Given the description of an element on the screen output the (x, y) to click on. 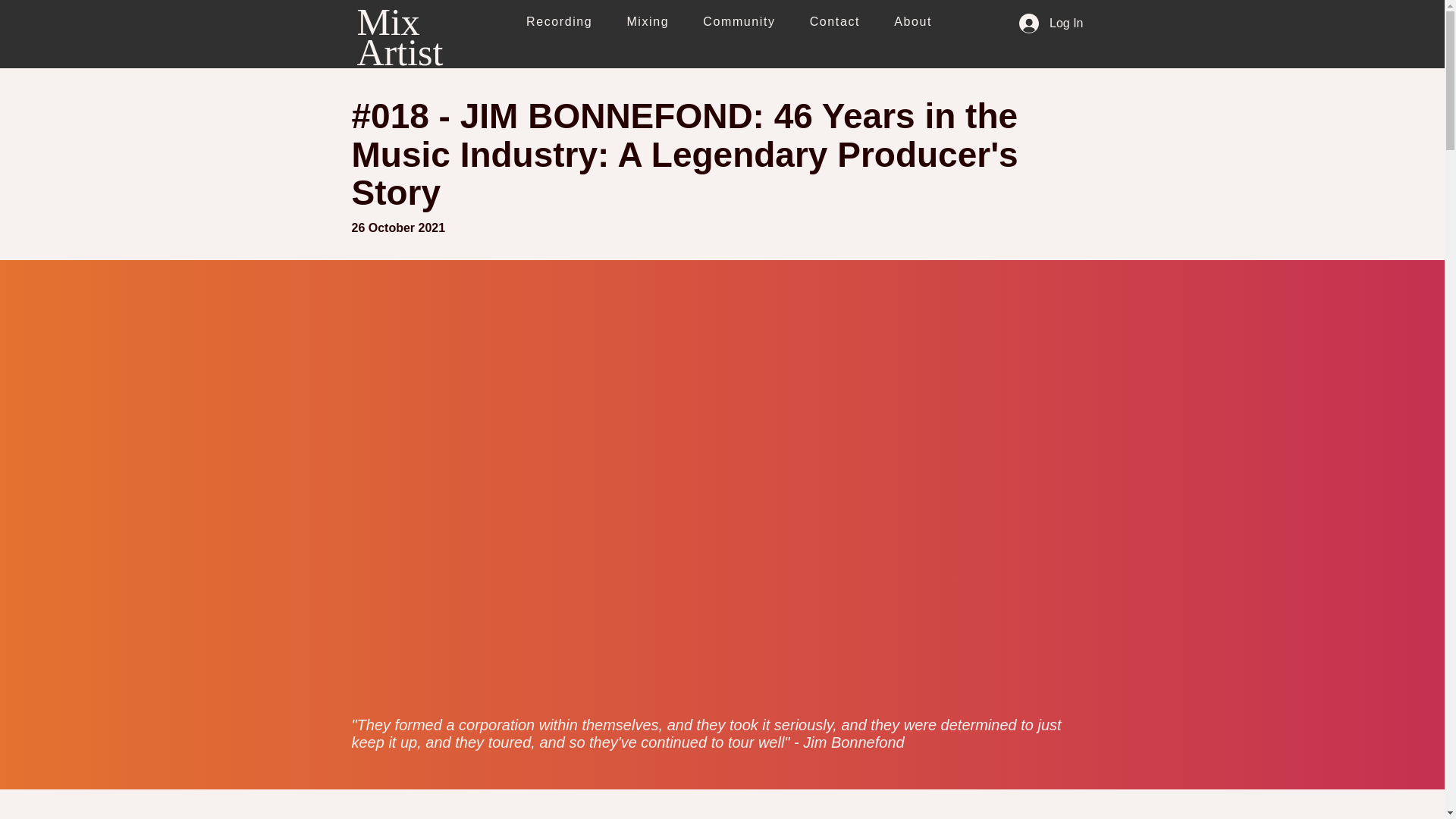
Mix Artist (399, 36)
Contact (833, 22)
Log In (1051, 23)
About (913, 22)
